Given the description of an element on the screen output the (x, y) to click on. 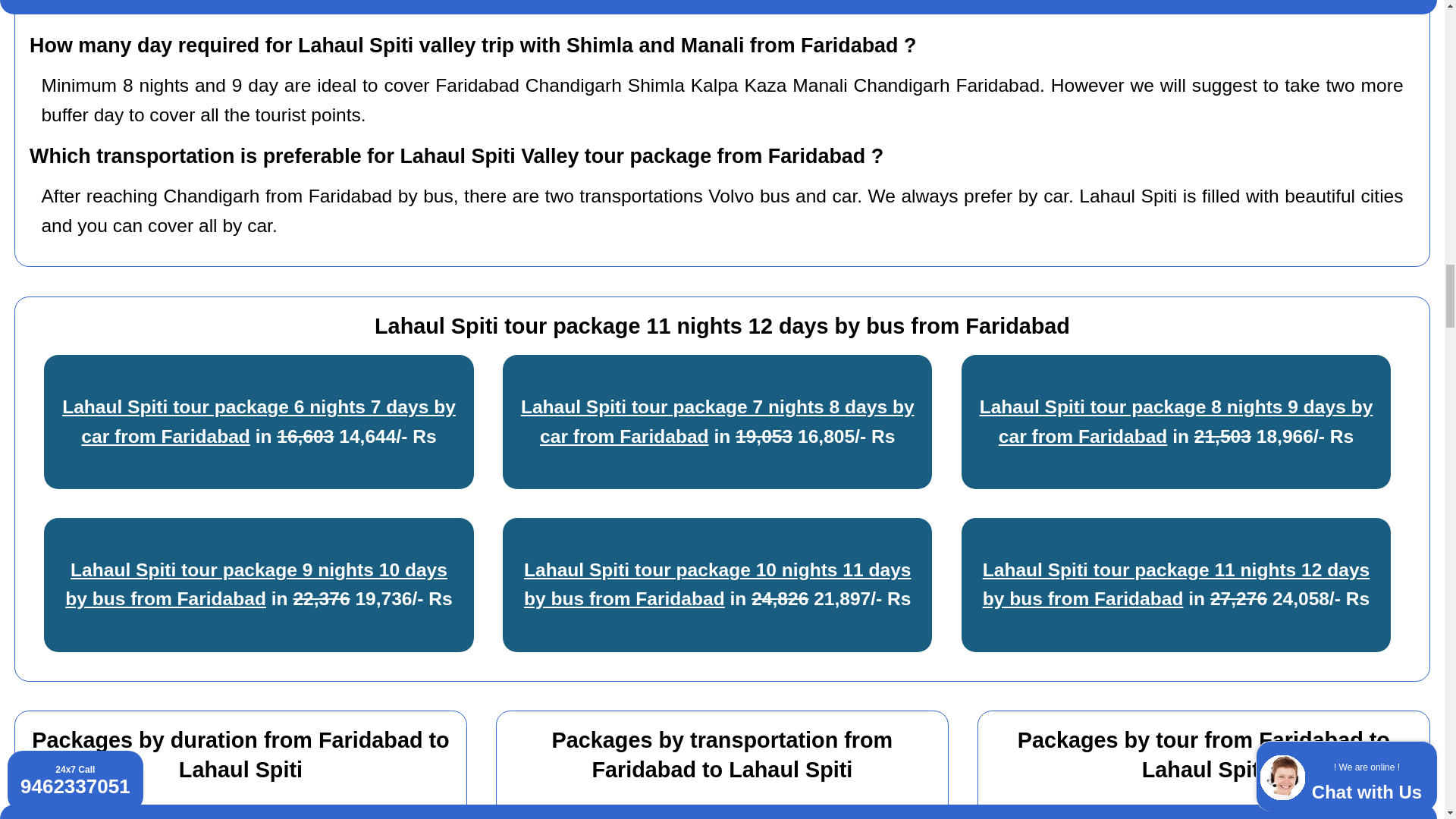
Lahaul Spiti 6 nights 7 days packages from Faridabad (236, 814)
Lahaul Spiti packages by car from Faridabad (726, 814)
Lahaul Spiti honeymoon packages from Faridabad (1186, 814)
